Given the description of an element on the screen output the (x, y) to click on. 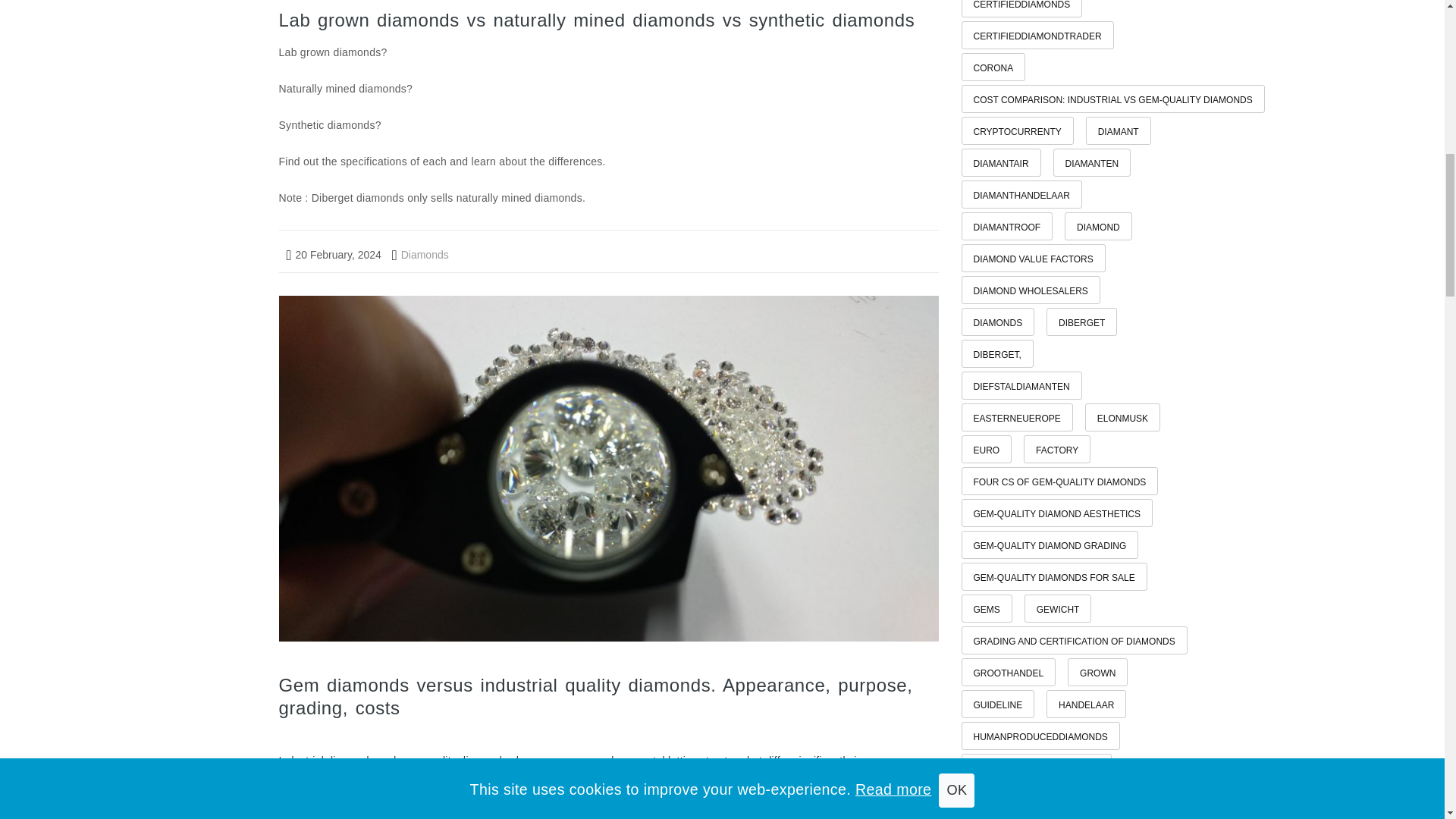
Diamonds (419, 254)
